Given the description of an element on the screen output the (x, y) to click on. 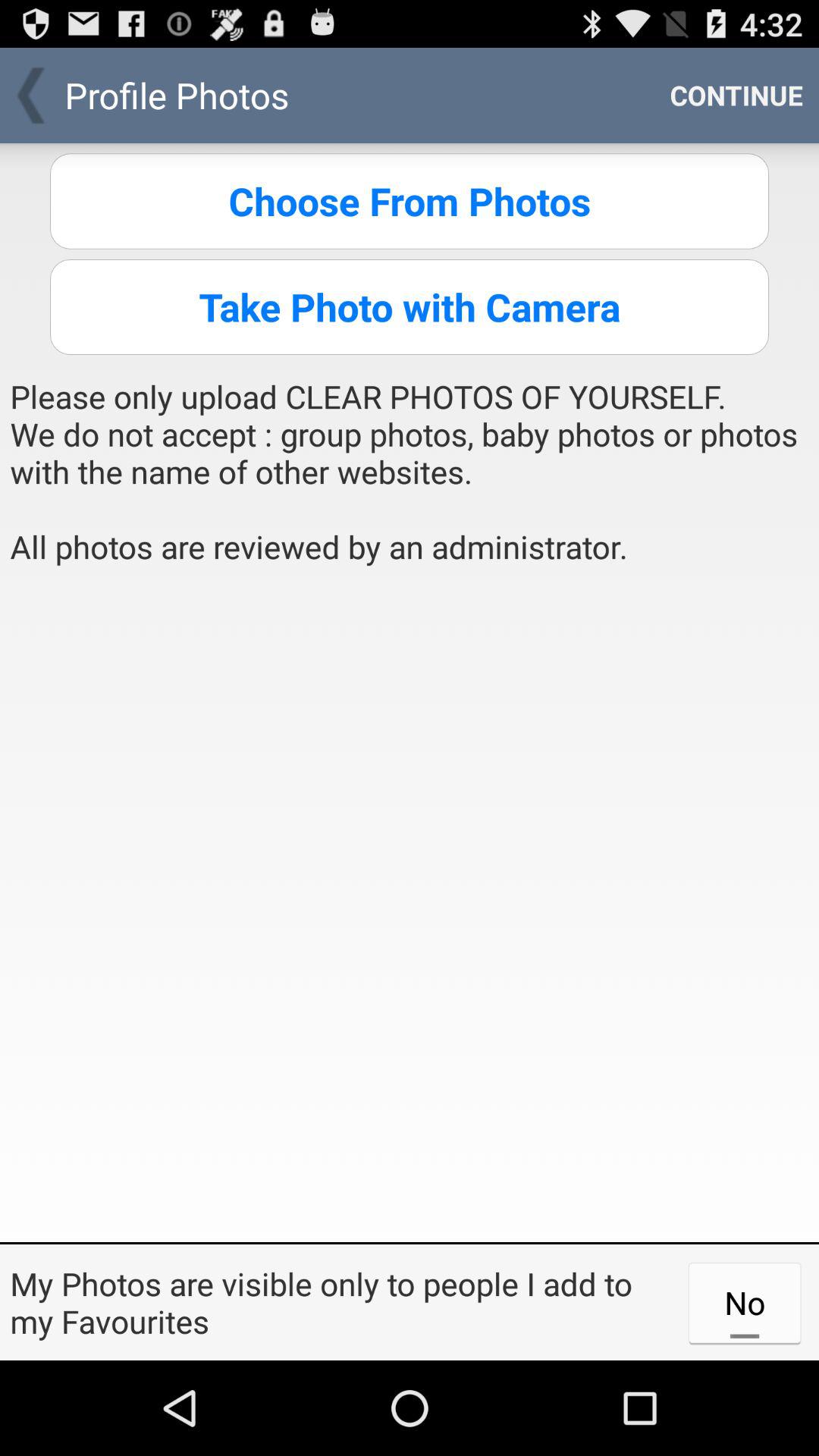
launch the item above the take photo with icon (409, 201)
